Given the description of an element on the screen output the (x, y) to click on. 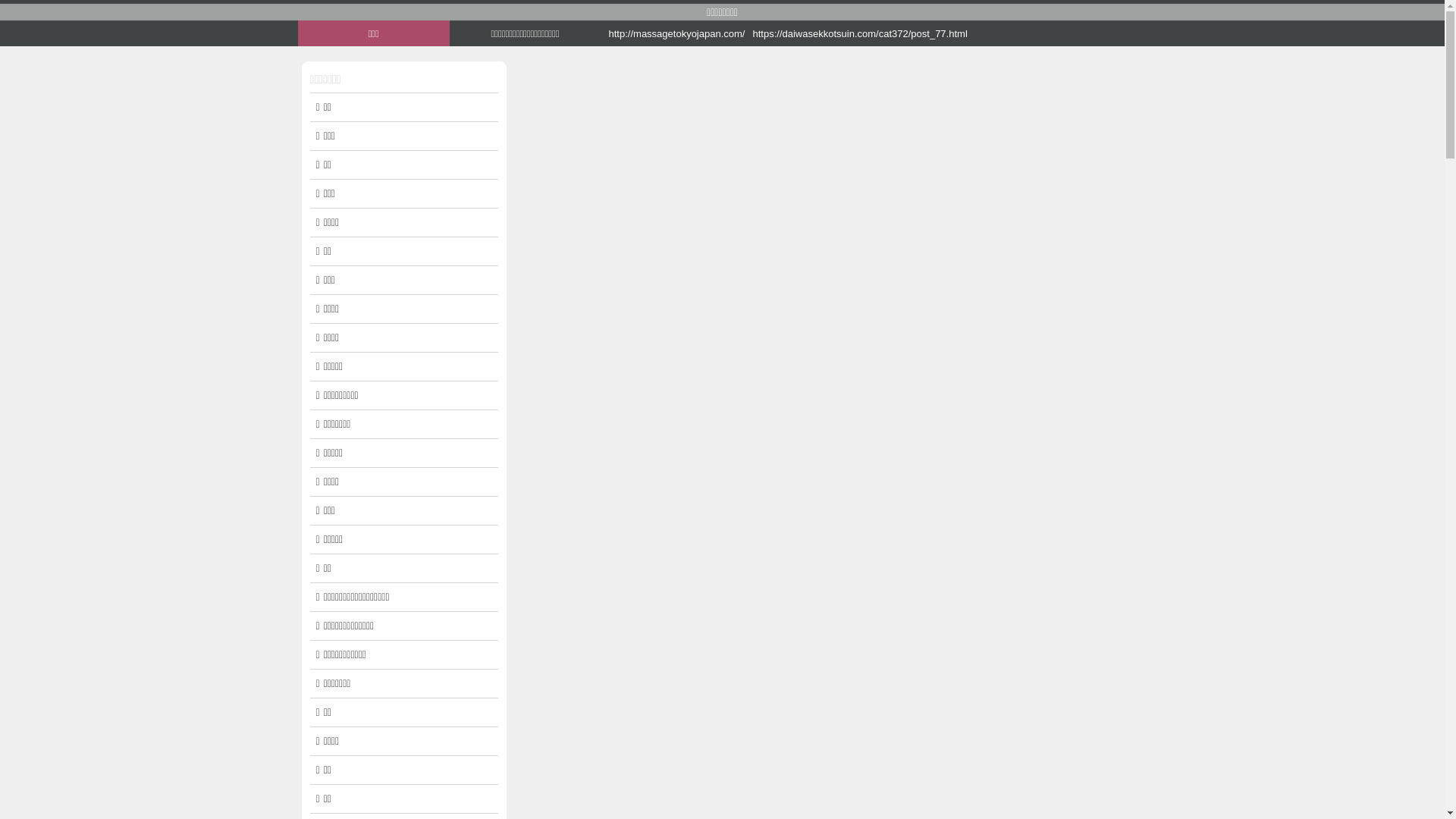
https://daiwasekkotsuin.com/cat372/post_77.html Element type: text (827, 33)
http://massagetokyojapan.com/ Element type: text (676, 33)
